Given the description of an element on the screen output the (x, y) to click on. 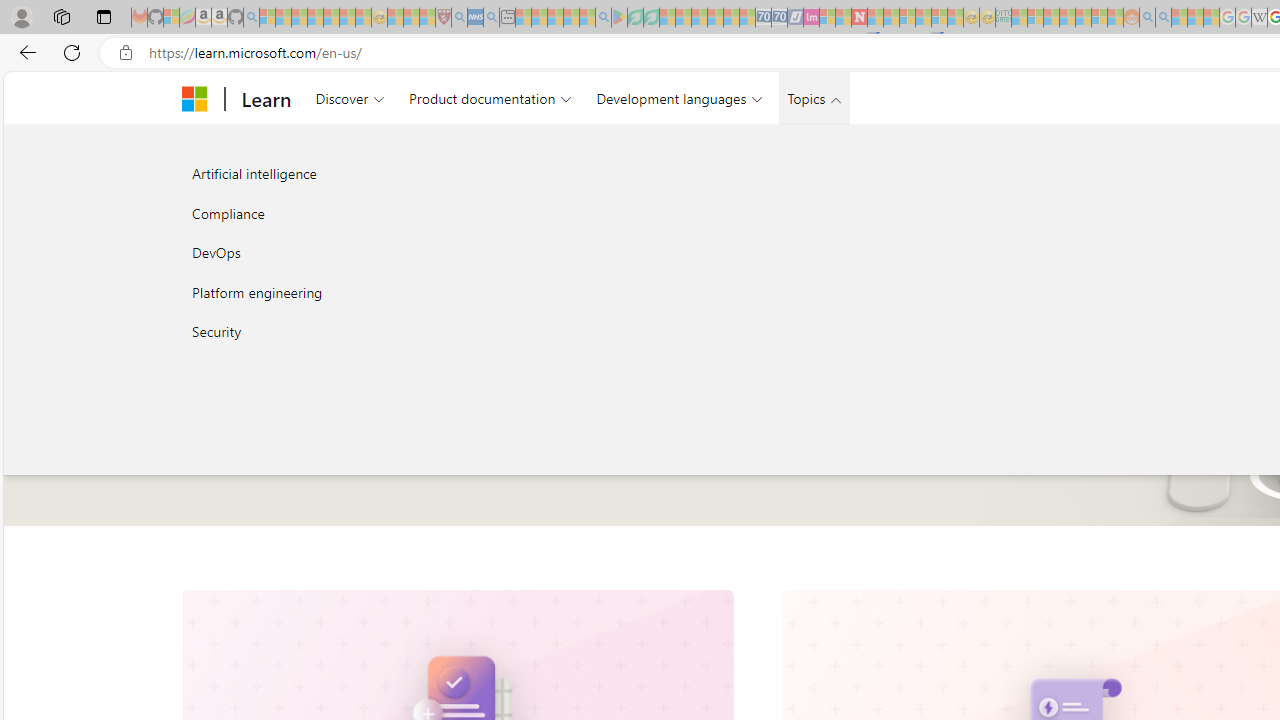
Security (394, 331)
Compliance (394, 212)
Security (394, 331)
Development languages (679, 98)
